Given the description of an element on the screen output the (x, y) to click on. 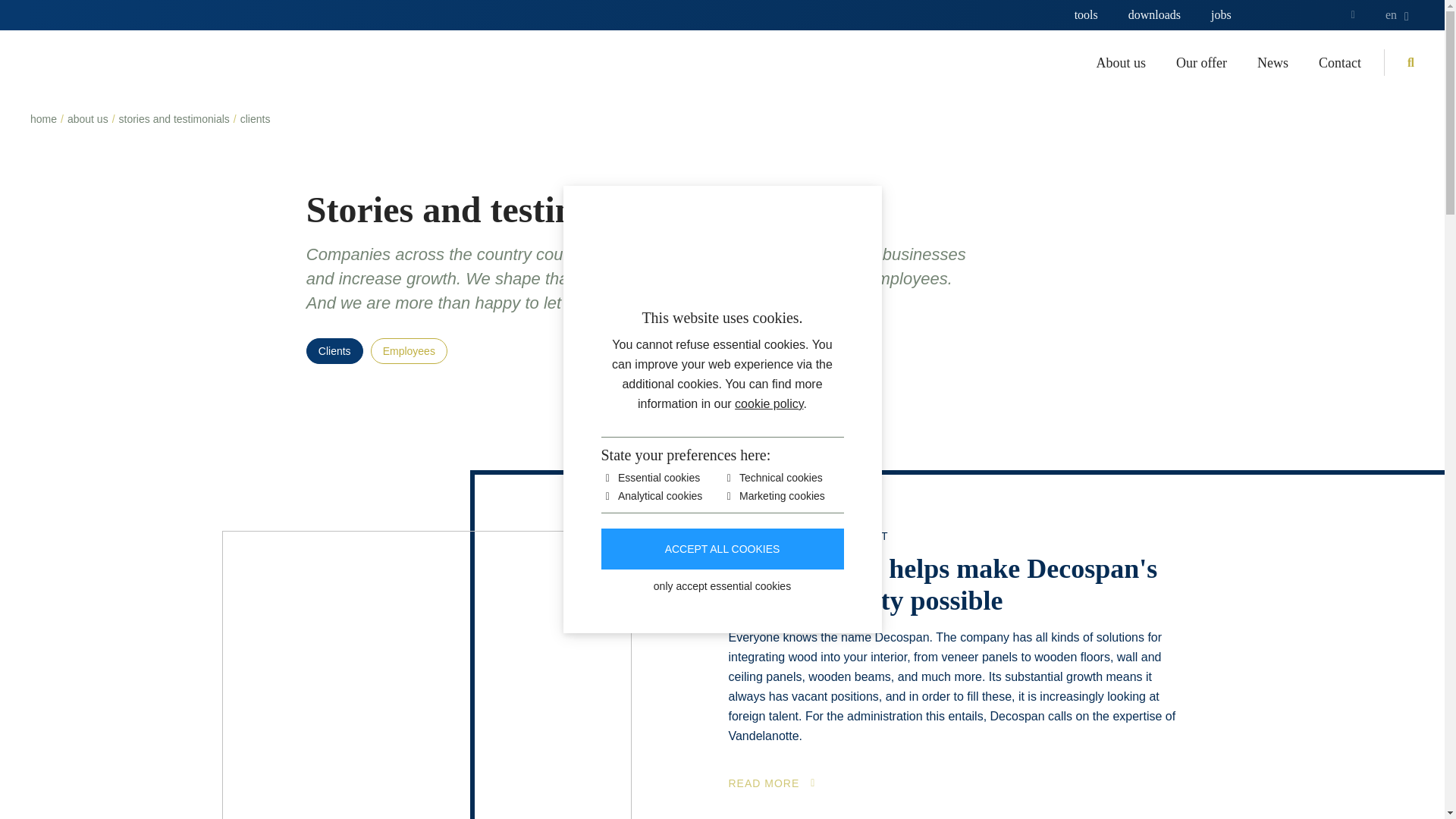
about us (86, 119)
jobs (1221, 14)
home (43, 119)
Jobs (1221, 14)
News (1272, 62)
Downloads (1154, 14)
tools (1085, 14)
About us (1120, 62)
stories and testimonials (174, 119)
Vandelanotte helps make Decospan's global mobility possible (953, 584)
